Given the description of an element on the screen output the (x, y) to click on. 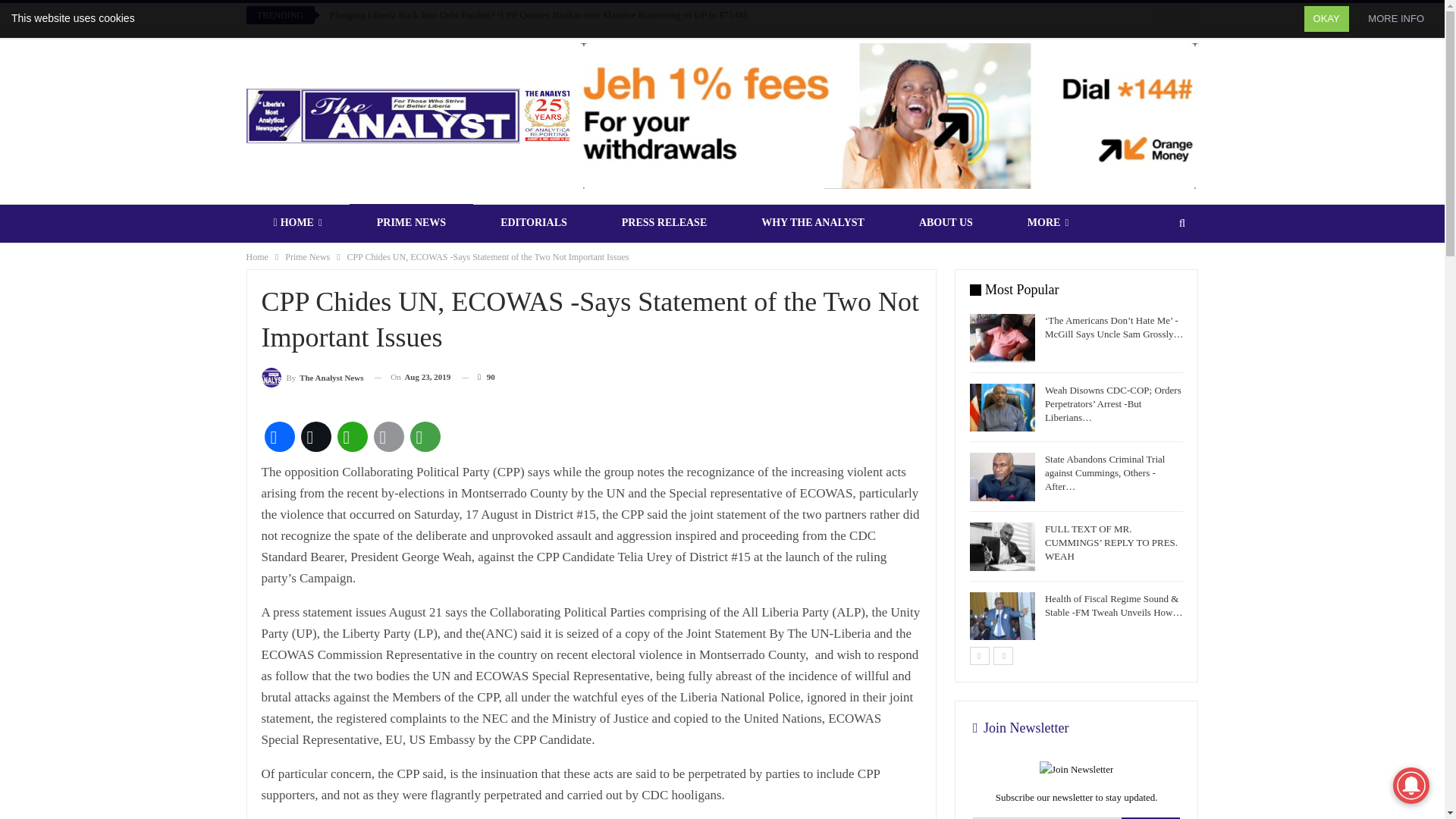
Prime News (307, 256)
By The Analyst News (311, 376)
WHY THE ANALYST (812, 222)
WhatsApp (351, 436)
PRESS RELEASE (663, 222)
MORE (1048, 222)
Home (256, 256)
Email This (387, 436)
HOME (297, 222)
PRIME NEWS (411, 222)
